Given the description of an element on the screen output the (x, y) to click on. 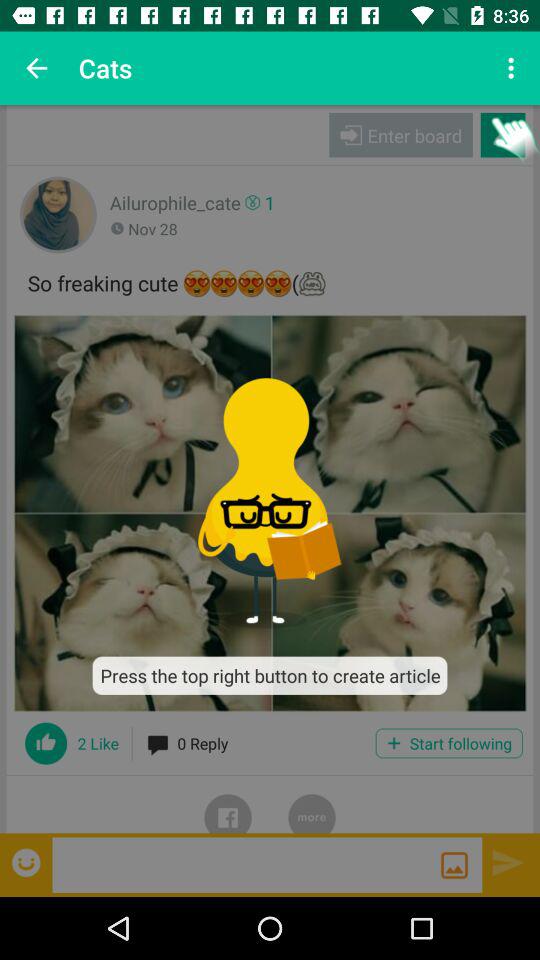
launch icon to the right of cats item (513, 67)
